Given the description of an element on the screen output the (x, y) to click on. 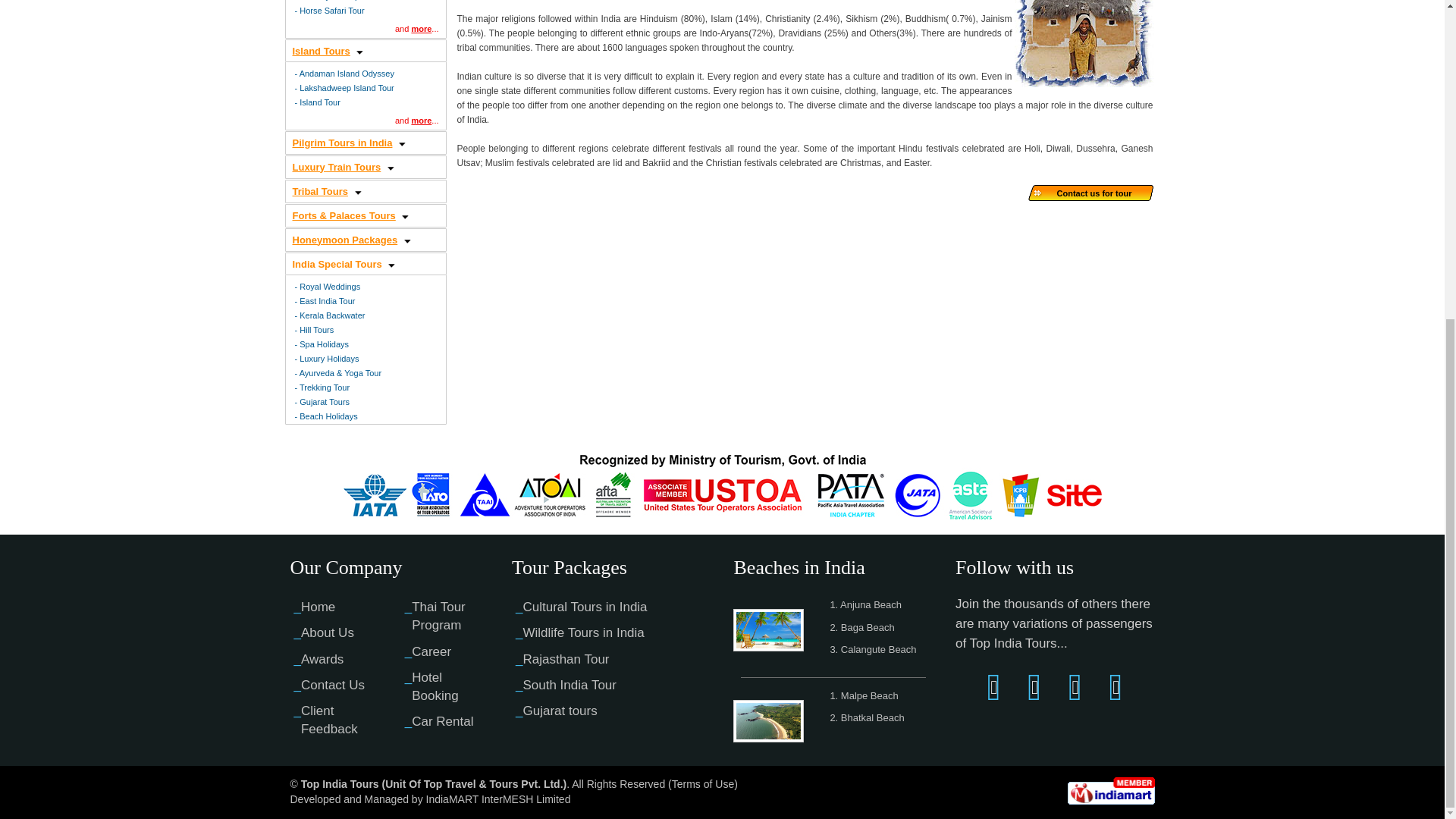
Island Tour (319, 101)
more (420, 28)
Lakshadweep Island Tour (346, 87)
Island Tours (321, 50)
Andaman Island Odyssey (346, 71)
Horse Safari Tour (331, 10)
